Given the description of an element on the screen output the (x, y) to click on. 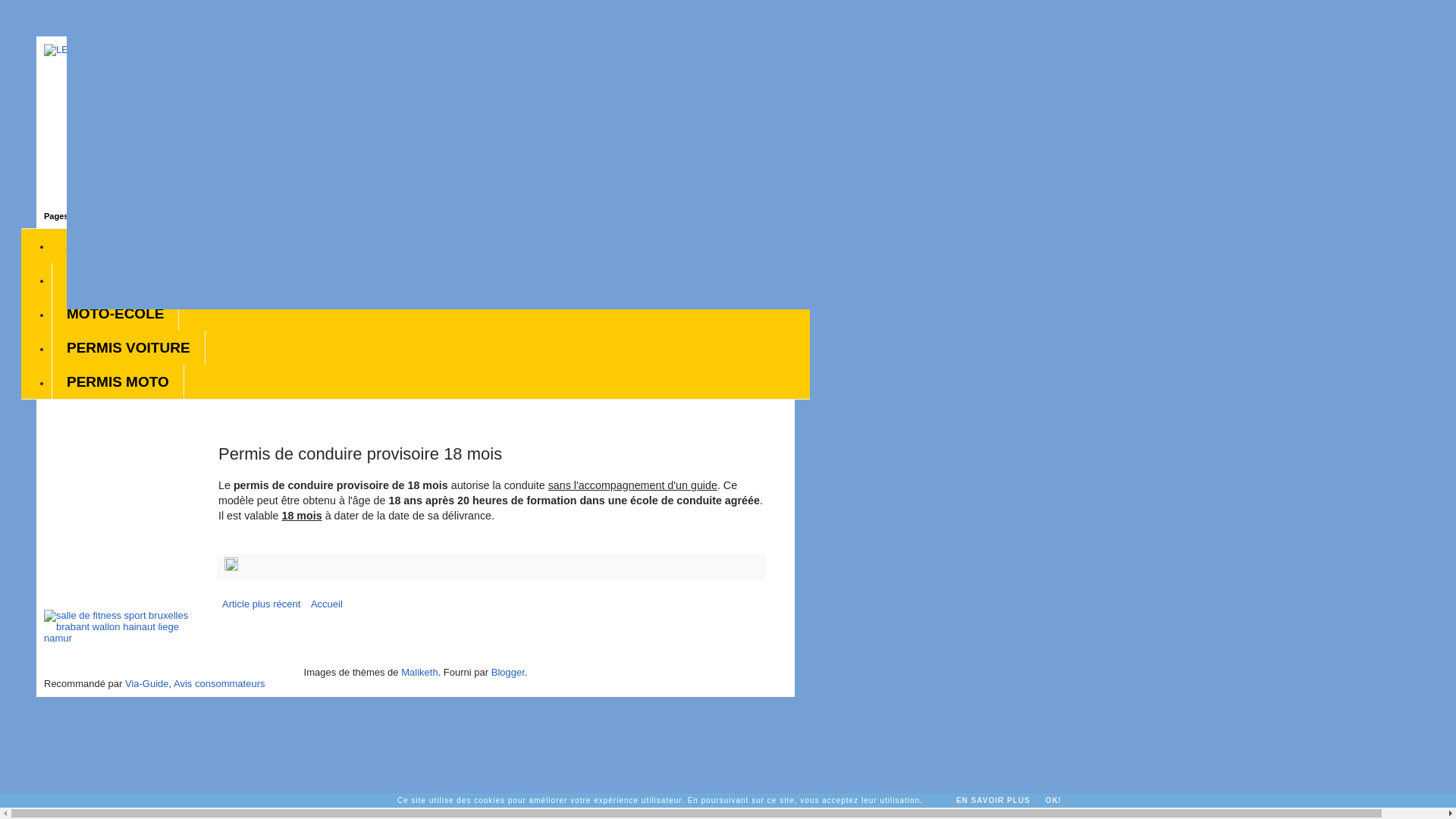
Avis consommateurs Element type: text (218, 683)
PERMIS VOITURE Element type: text (128, 347)
EN SAVOIR PLUS Element type: text (993, 800)
MOTO-ECOLE Element type: text (114, 314)
Modifier l'article Element type: hover (231, 567)
PERMIS MOTO Element type: text (117, 381)
Accueil Element type: text (326, 603)
ACCUEIL Element type: text (97, 246)
OK! Element type: text (1053, 800)
AUTO-ECOLE Element type: text (113, 280)
Blogger Element type: text (507, 671)
Via-Guide Element type: text (147, 683)
Maliketh Element type: text (419, 671)
